Given the description of an element on the screen output the (x, y) to click on. 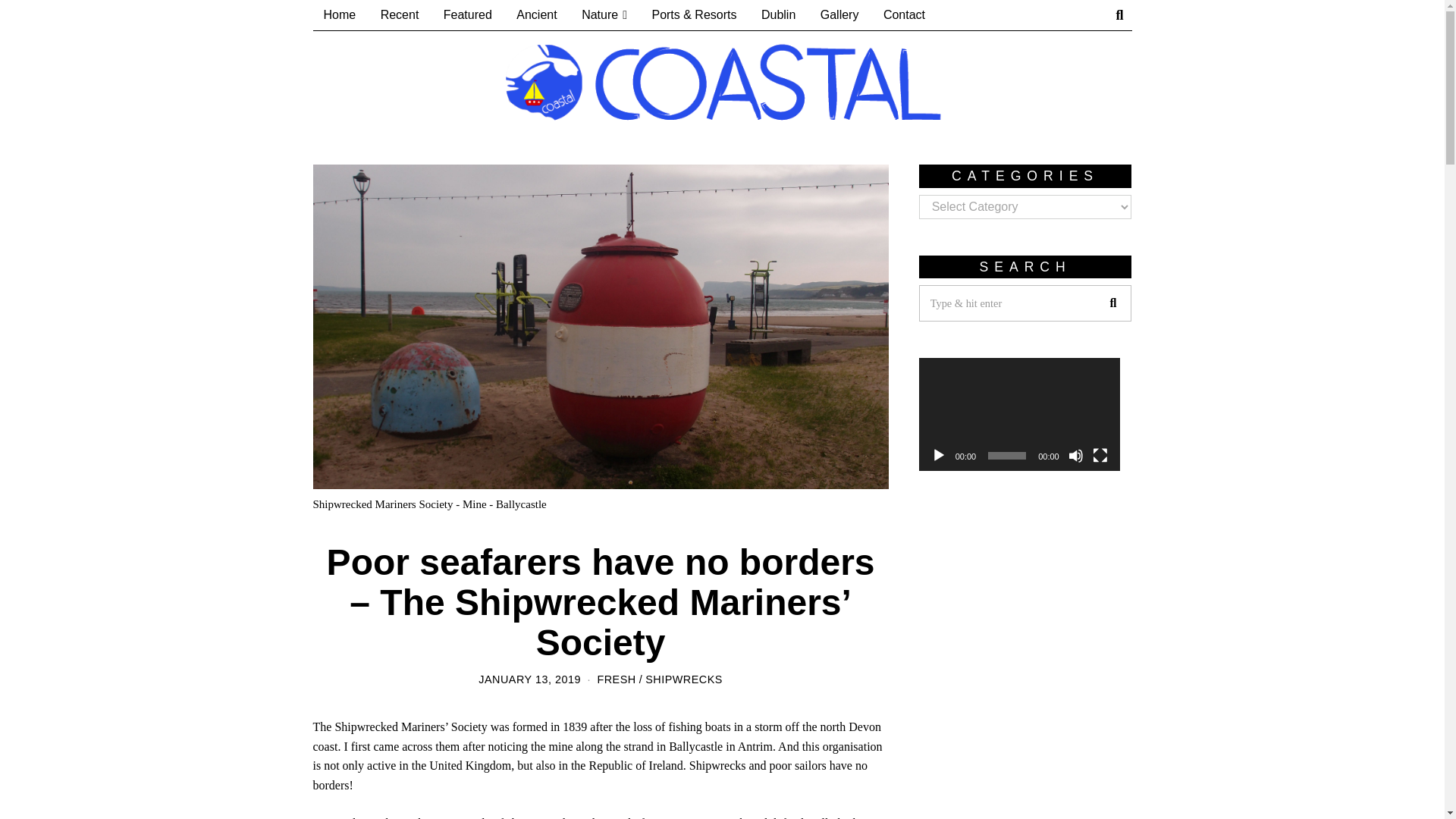
Play (938, 455)
SHIPWRECKS (683, 679)
Gallery (839, 15)
Featured (467, 15)
Nature (603, 15)
Contact (904, 15)
Fullscreen (1100, 455)
Go (1112, 303)
Ancient (536, 15)
Dublin (778, 15)
Mute (1075, 455)
Recent (399, 15)
Home (339, 15)
FRESH (615, 679)
